Given the description of an element on the screen output the (x, y) to click on. 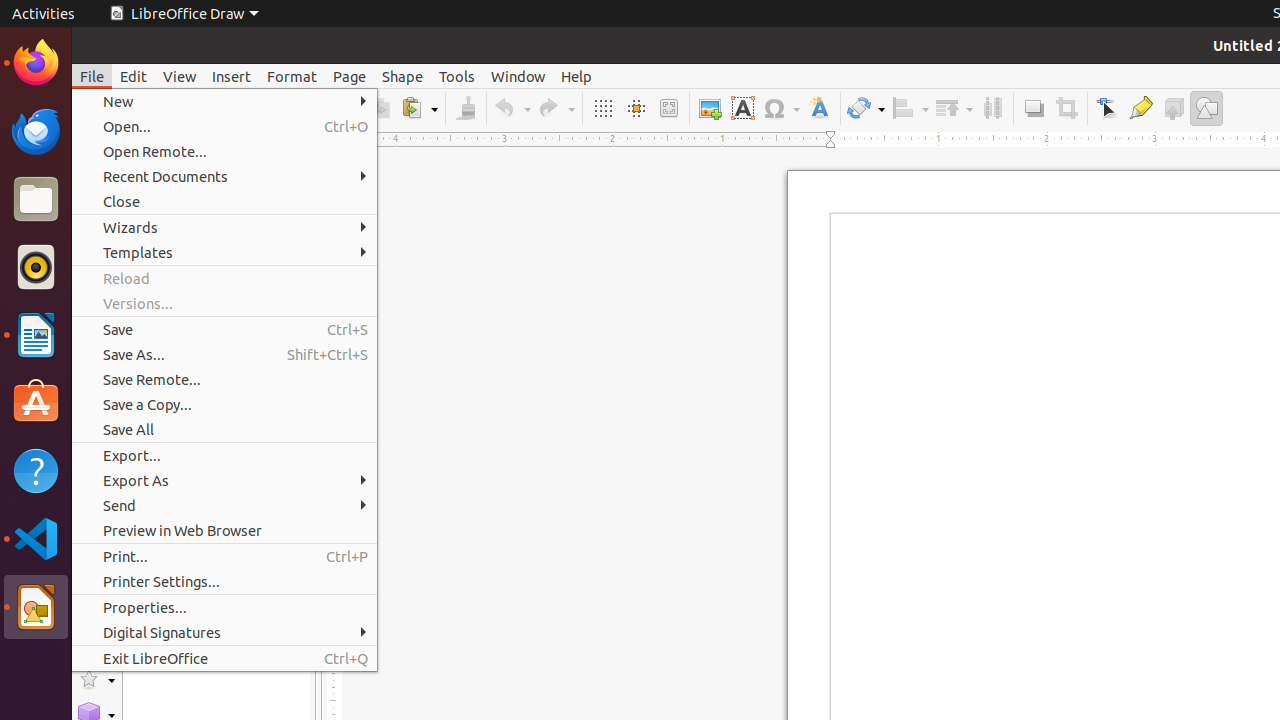
Export As Element type: menu (224, 480)
Draw Functions Element type: toggle-button (1206, 108)
Ubuntu Software Element type: push-button (36, 402)
Shadow Element type: toggle-button (1033, 108)
Helplines While Moving Element type: toggle-button (635, 108)
